Given the description of an element on the screen output the (x, y) to click on. 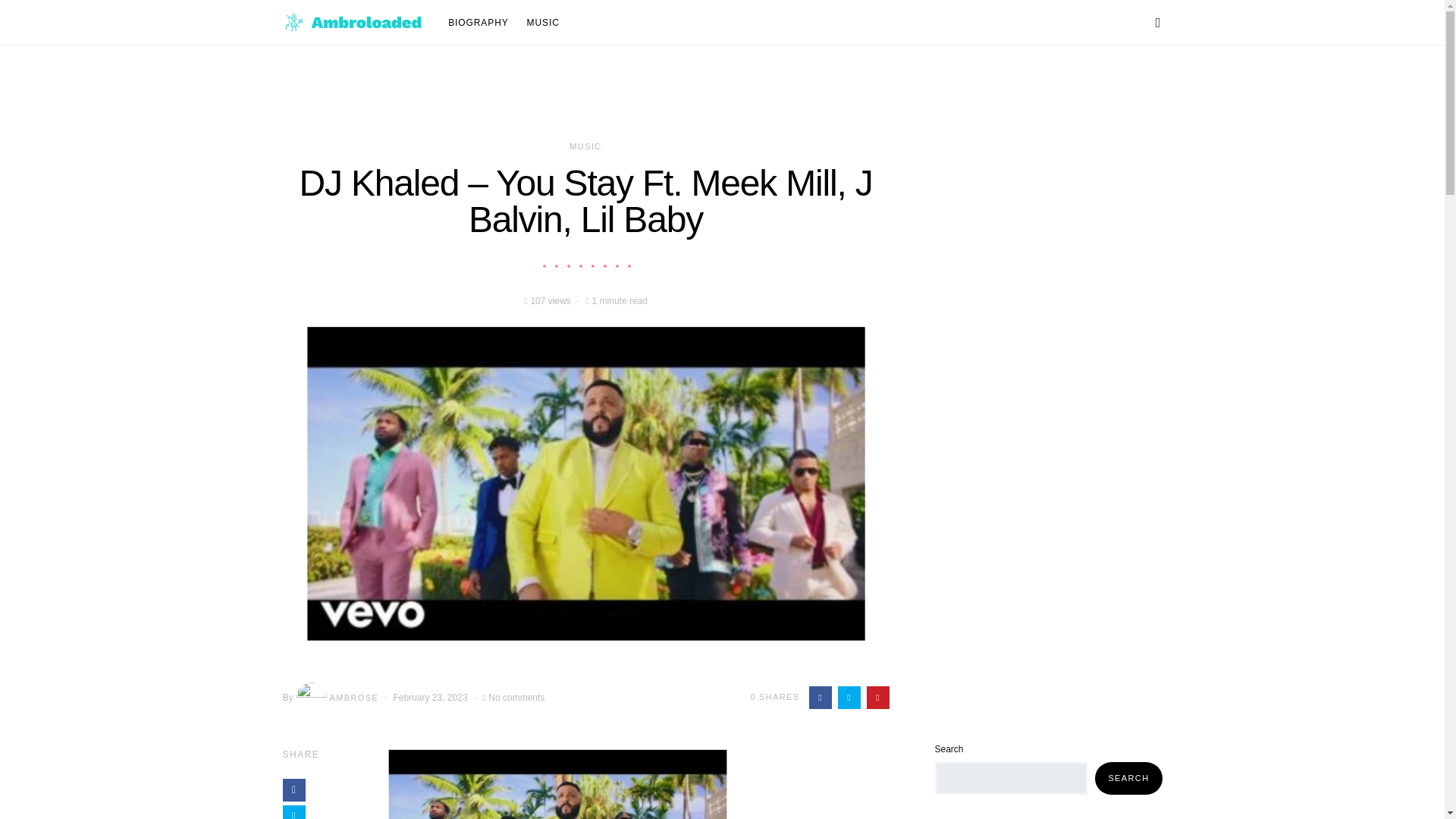
BIOGRAPHY (482, 22)
No comments (515, 697)
View all posts by Ambrose (336, 697)
AMBROSE (336, 697)
MUSIC (585, 145)
MUSIC (538, 22)
